Given the description of an element on the screen output the (x, y) to click on. 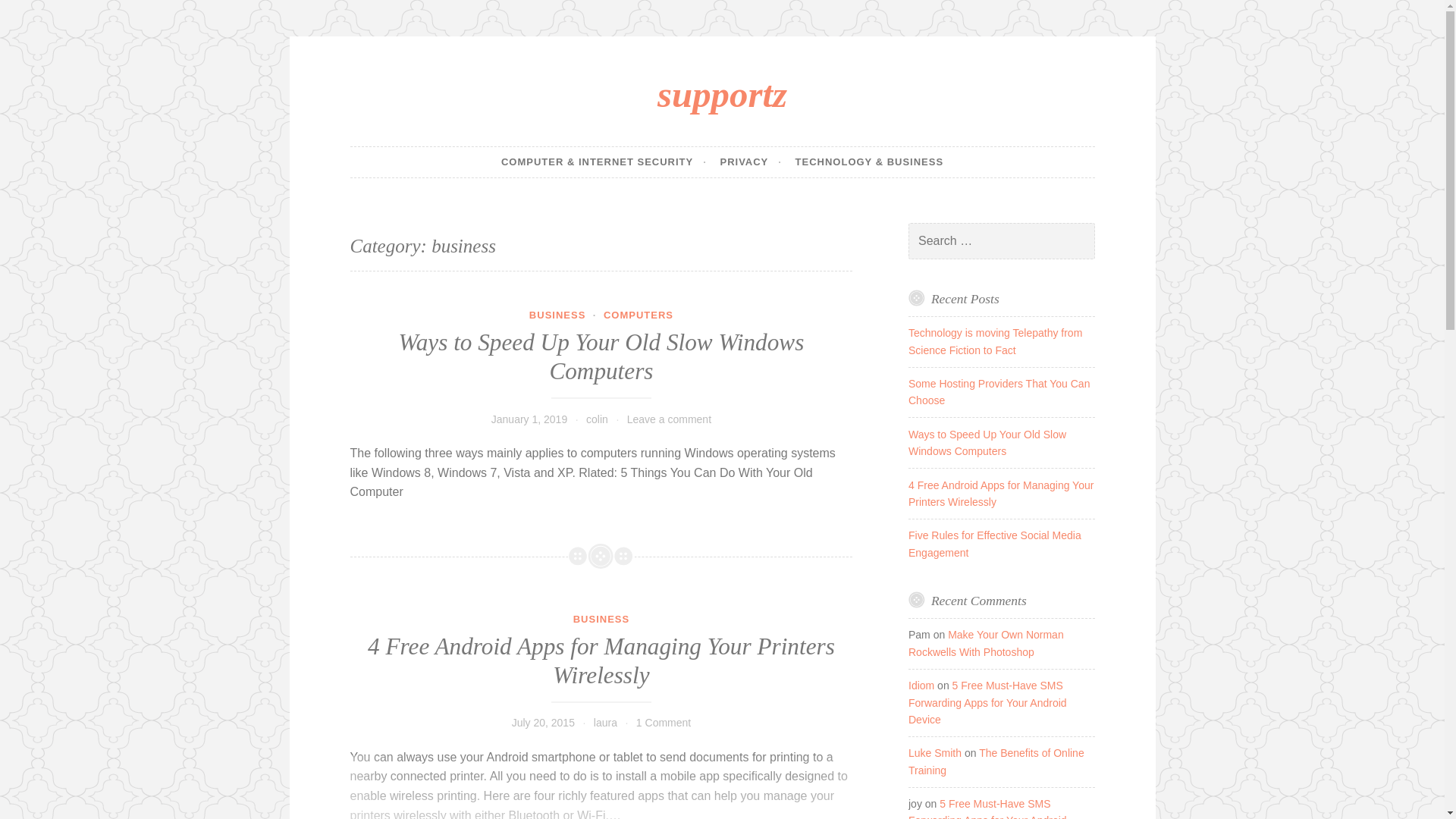
Some Hosting Providers That You Can Choose (998, 391)
Leave a comment (669, 419)
January 1, 2019 (529, 419)
July 20, 2015 (543, 722)
4 Free Android Apps for Managing Your Printers Wirelessly (601, 660)
laura (605, 722)
BUSINESS (557, 315)
Ways to Speed Up Your Old Slow Windows Computers (601, 356)
PRIVACY (749, 162)
1 Comment (663, 722)
Search (33, 13)
colin (597, 419)
COMPUTERS (638, 315)
